Given the description of an element on the screen output the (x, y) to click on. 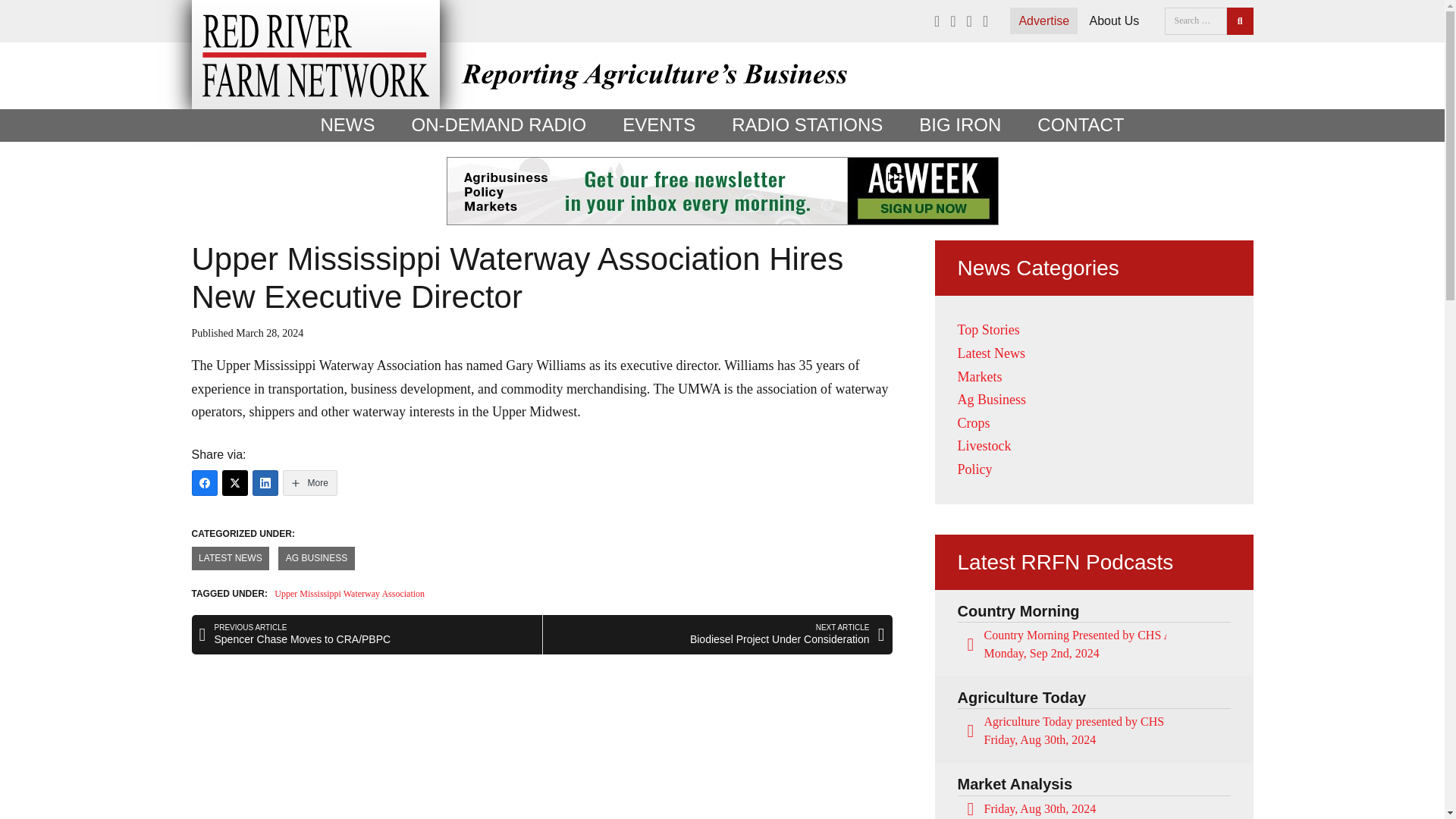
Latest News (990, 353)
About Us (1113, 20)
RADIO STATIONS (807, 124)
Market Analysis (1013, 783)
Country Morning (1017, 610)
More (309, 483)
Markets (978, 376)
ON-DEMAND RADIO (498, 124)
EVENTS (658, 124)
